Given the description of an element on the screen output the (x, y) to click on. 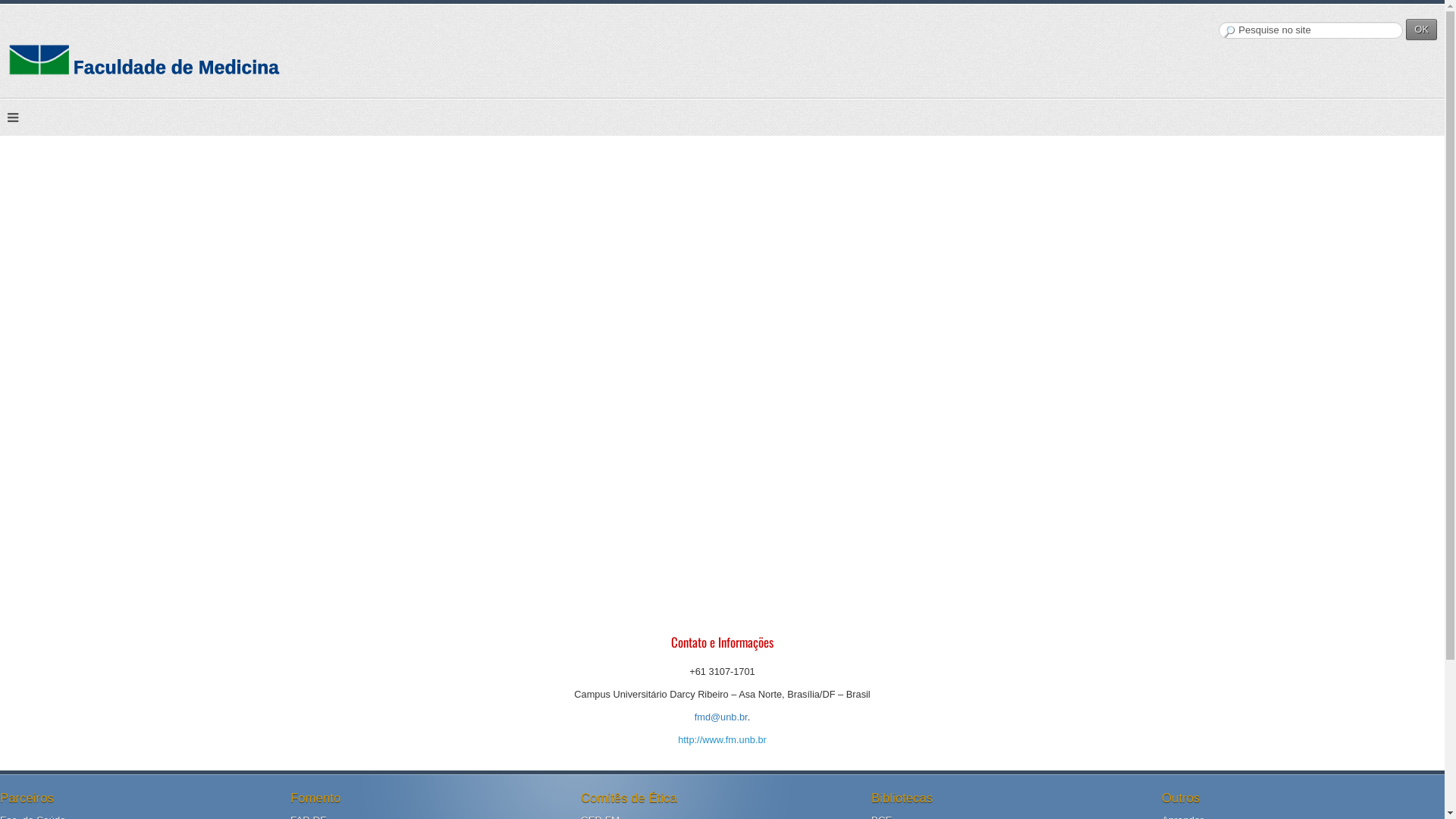
OK Element type: text (1421, 29)
http://www.fm.unb.br Element type: text (721, 739)
fmd@unb.br Element type: text (720, 716)
FM/UnB Element type: hover (267, 54)
